Given the description of an element on the screen output the (x, y) to click on. 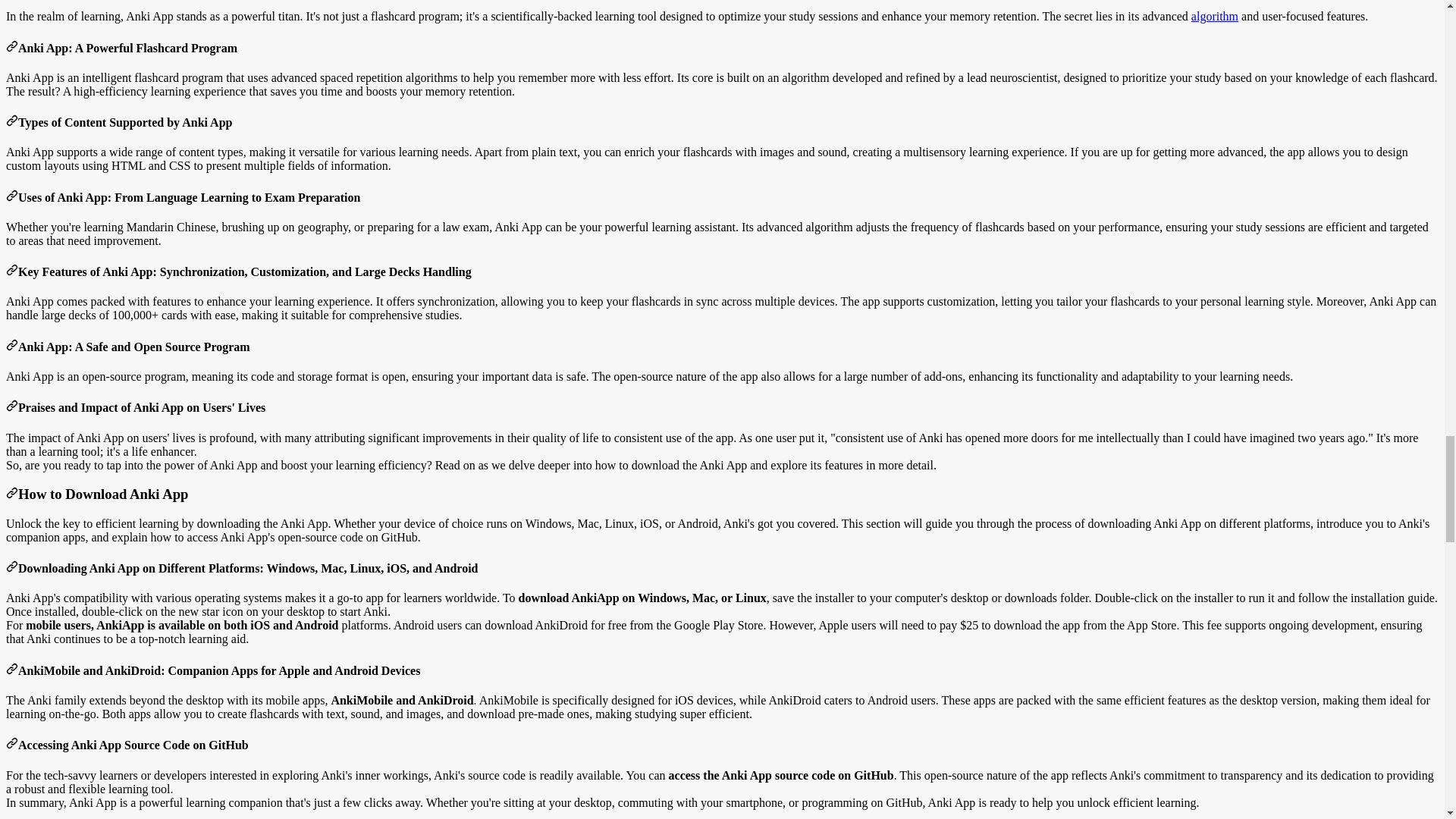
Praises and Impact of Anki App on Users' Lives (11, 407)
Uses of Anki App: From Language Learning to Exam Preparation (11, 196)
Anki App: A Safe and Open Source Program (11, 346)
Anki App: A Powerful Flashcard Program (11, 47)
Types of Content Supported by Anki App (11, 122)
Accessing Anki App Source Code on GitHub (11, 744)
algorithm (1215, 15)
